Given the description of an element on the screen output the (x, y) to click on. 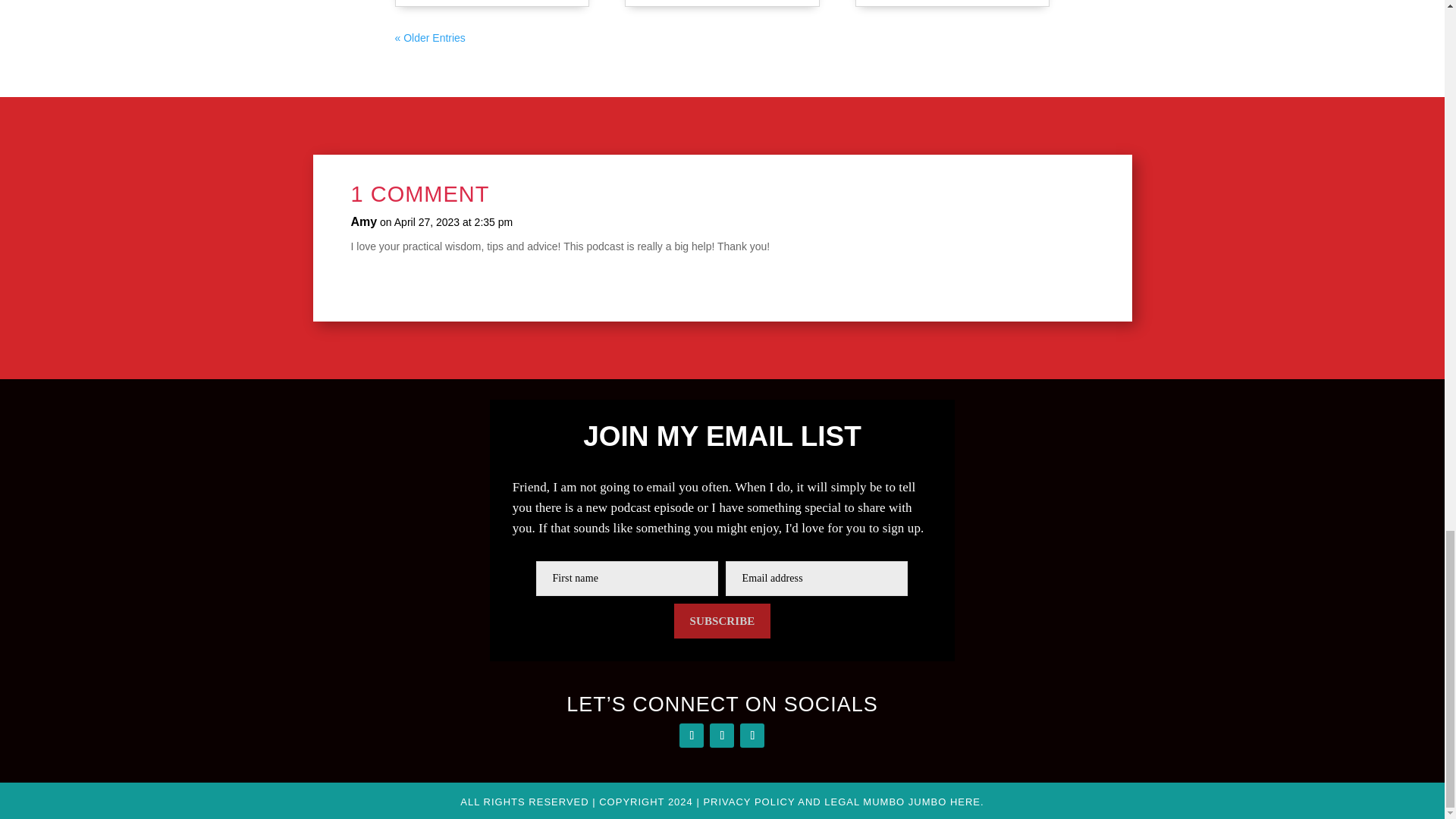
Follow on Instagram (721, 735)
Follow on Facebook (691, 735)
Follow on LinkedIn (751, 735)
SUBSCRIBE (722, 620)
HERE (964, 801)
